Given the description of an element on the screen output the (x, y) to click on. 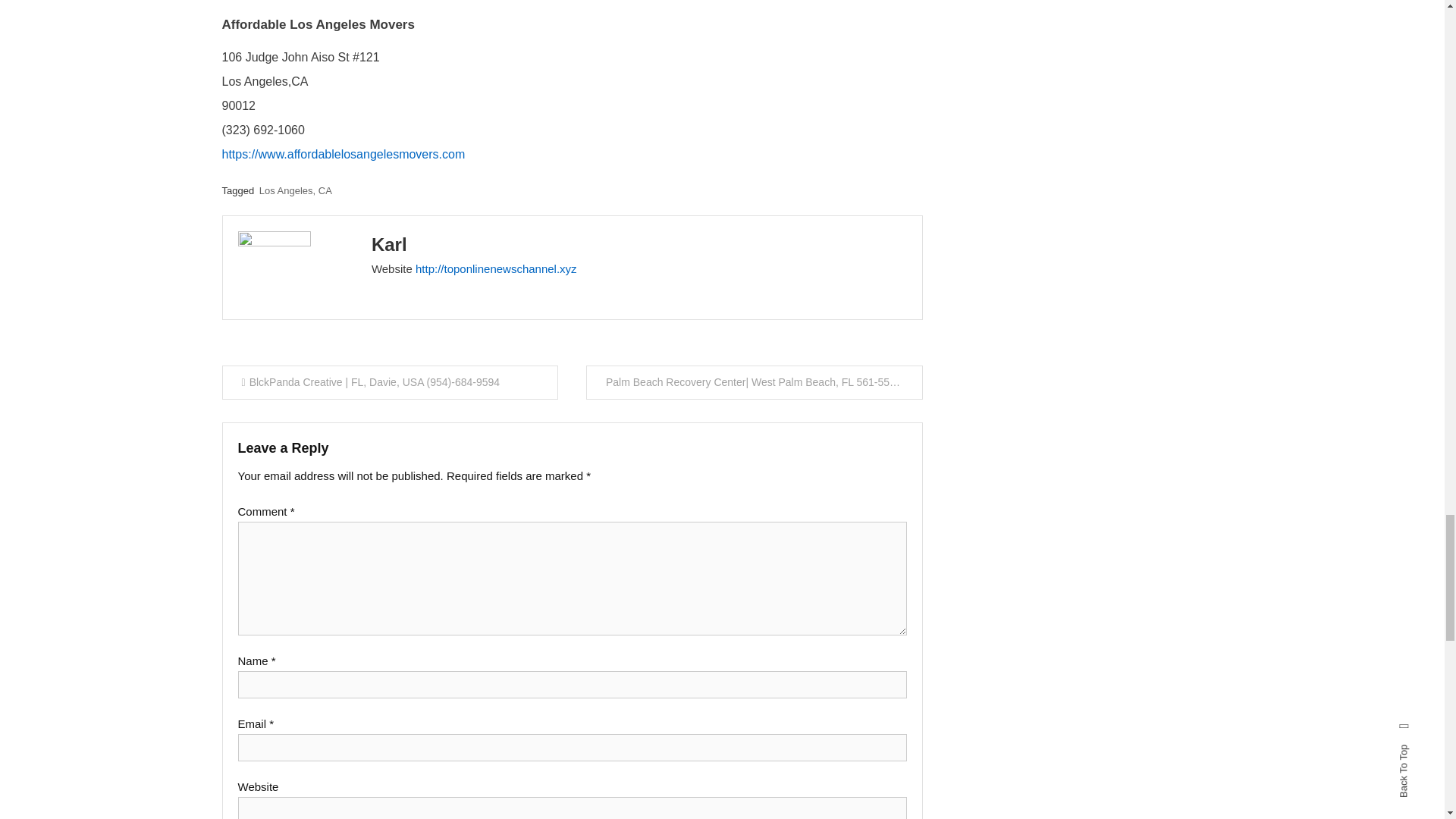
Posts by Karl (389, 244)
